Given the description of an element on the screen output the (x, y) to click on. 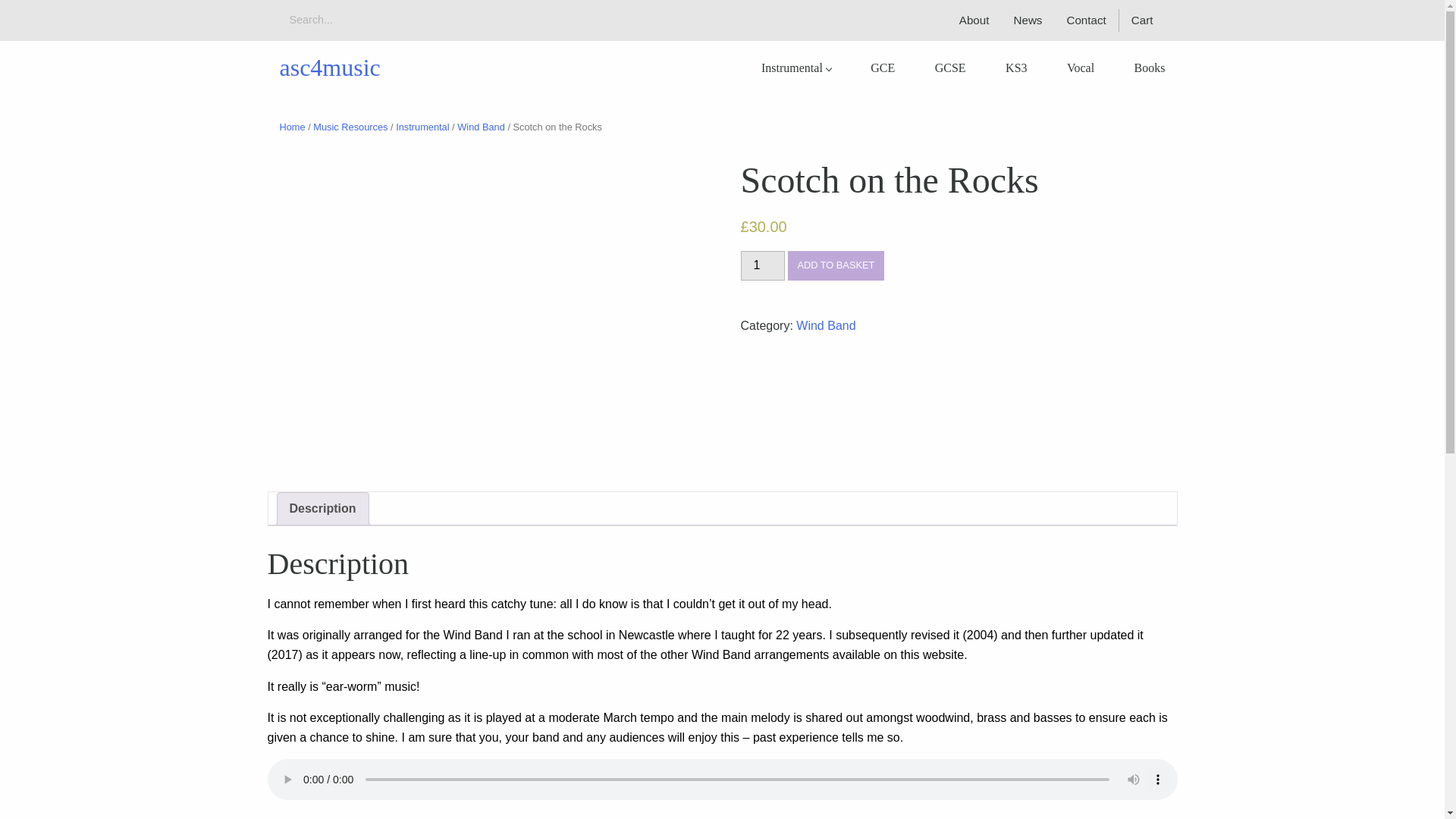
1 (761, 265)
GCSE (950, 67)
asc4music (328, 67)
About (974, 20)
Instrumental (796, 67)
Vocal (1080, 67)
Wind Band (481, 126)
Home (291, 126)
Cart (1148, 20)
Books (1149, 67)
